Given the description of an element on the screen output the (x, y) to click on. 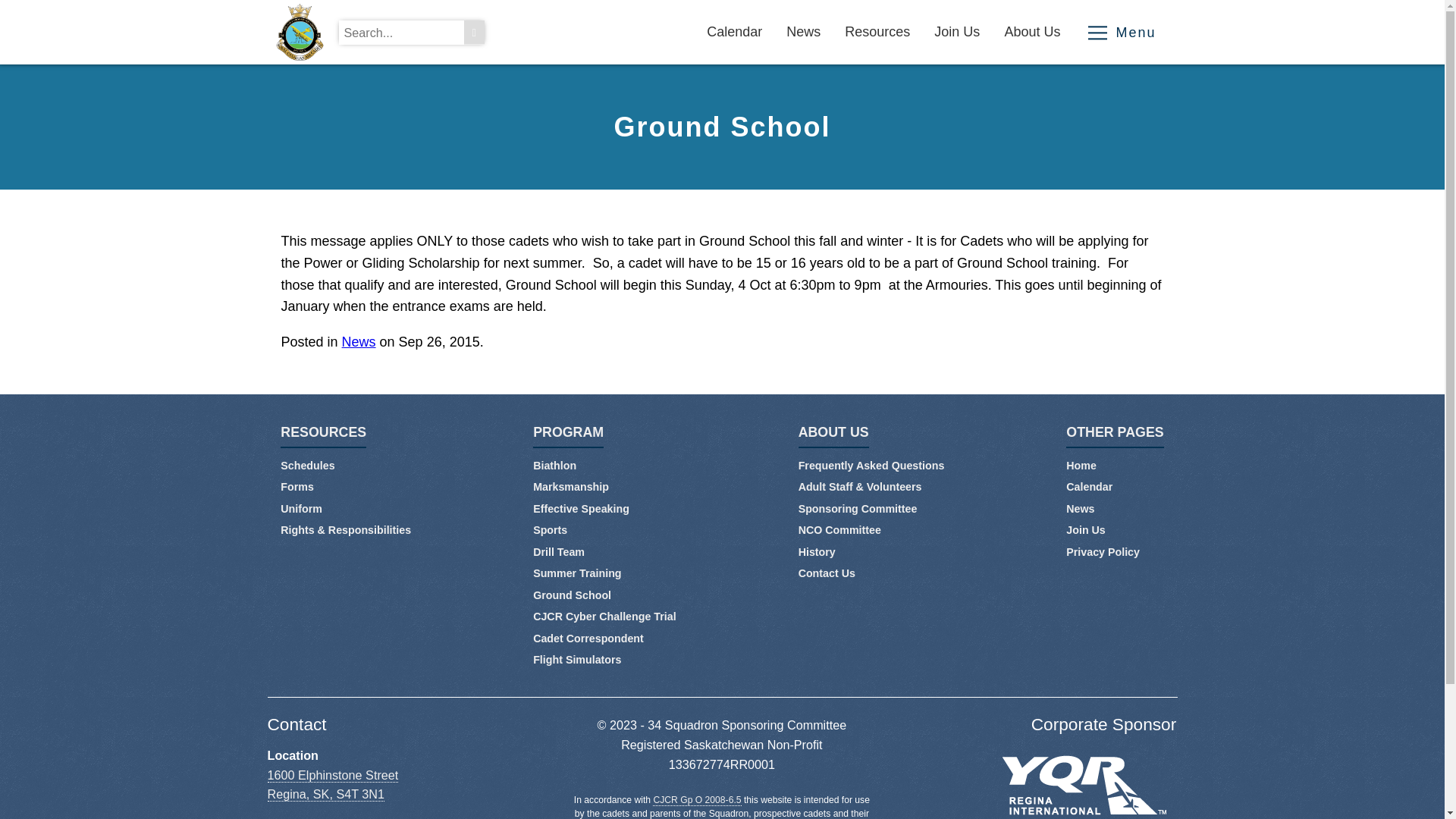
Rights & Responsibilities Element type: text (345, 530)
RESOURCES Element type: text (323, 437)
Cadet Correspondent Element type: text (588, 638)
Adult Staff & Volunteers Element type: text (860, 486)
Biathlon Element type: text (554, 465)
Calendar Element type: text (734, 32)
ABOUT US Element type: text (833, 437)
Ground School Element type: text (572, 595)
Frequently Asked Questions Element type: text (871, 465)
OTHER PAGES Element type: text (1114, 437)
Menu Element type: text (1122, 32)
News Element type: text (1080, 508)
History Element type: text (816, 552)
1600 Elphinstone Street
Regina, SK, S4T 3N1 Element type: text (332, 785)
Marksmanship Element type: text (570, 486)
Contact Us Element type: text (826, 573)
PROGRAM Element type: text (568, 437)
Calendar Element type: text (1089, 486)
Join Us Element type: text (957, 32)
Uniform Element type: text (301, 508)
Schedules Element type: text (307, 465)
Resources Element type: text (877, 32)
Join Us Element type: text (1085, 530)
Summer Training Element type: text (577, 573)
News Element type: text (359, 341)
Sports Element type: text (550, 530)
Drill Team Element type: text (558, 552)
CJCR Gp O 2008-6.5 Element type: text (696, 800)
Forms Element type: text (296, 486)
News Element type: text (803, 32)
About Us Element type: text (1032, 32)
Sponsoring Committee Element type: text (857, 508)
NCO Committee Element type: text (839, 530)
CJCR Cyber Challenge Trial Element type: text (604, 616)
Effective Speaking Element type: text (581, 508)
Privacy Policy Element type: text (1102, 552)
Flight Simulators Element type: text (577, 659)
Home Element type: text (1081, 465)
